Given the description of an element on the screen output the (x, y) to click on. 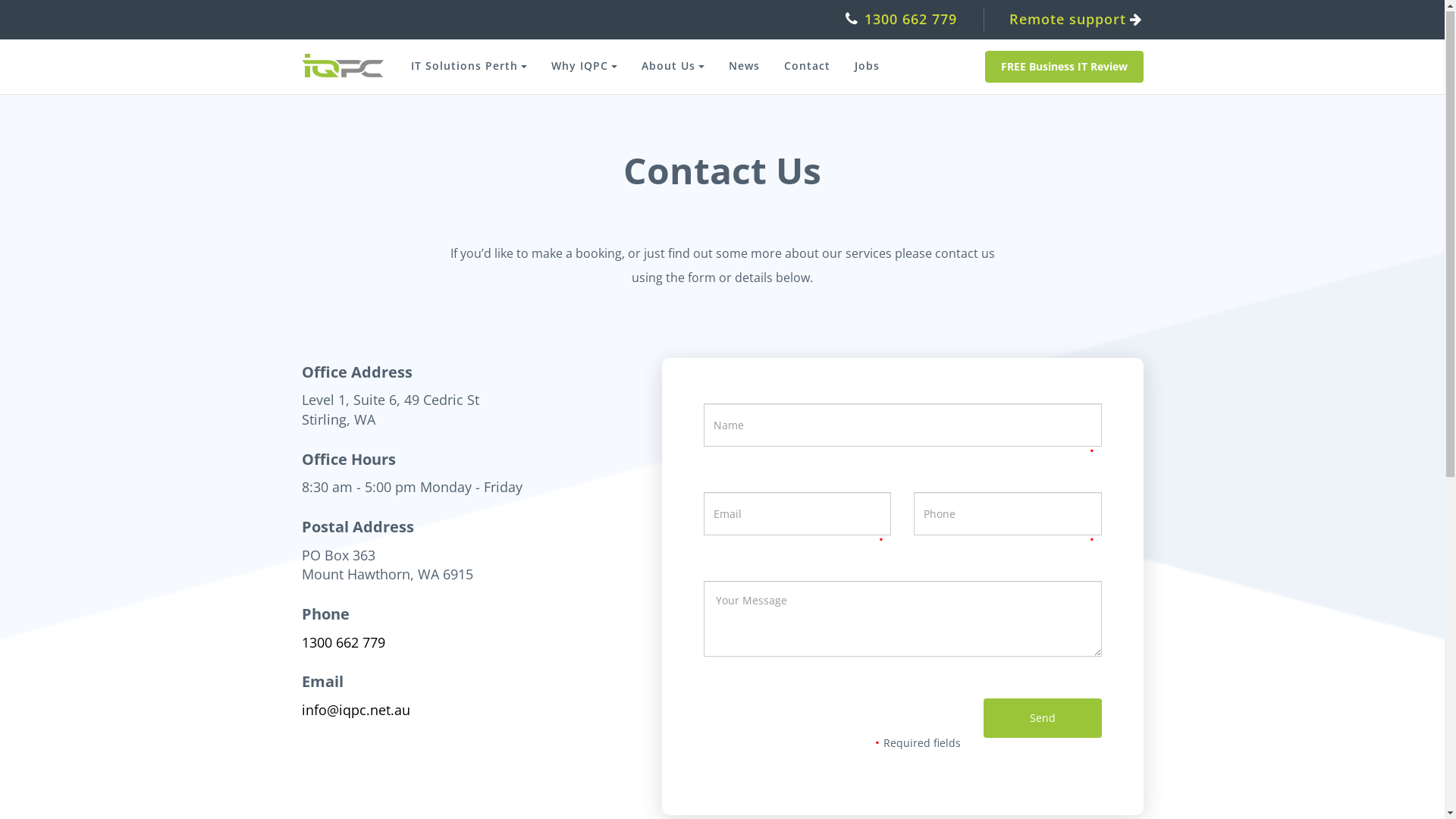
News Element type: text (743, 66)
Jobs Element type: text (866, 66)
About Us Element type: text (673, 66)
Send Element type: text (1041, 718)
IT Solutions Perth Element type: text (468, 66)
info@iqpc.net.au Element type: text (355, 710)
FREE Business IT Review Element type: text (1063, 67)
Why IQPC Element type: text (583, 66)
Remote support Element type: text (1068, 19)
Contact Element type: text (806, 66)
1300 662 779 Element type: text (343, 642)
1300 662 779 Element type: text (902, 19)
